Given the description of an element on the screen output the (x, y) to click on. 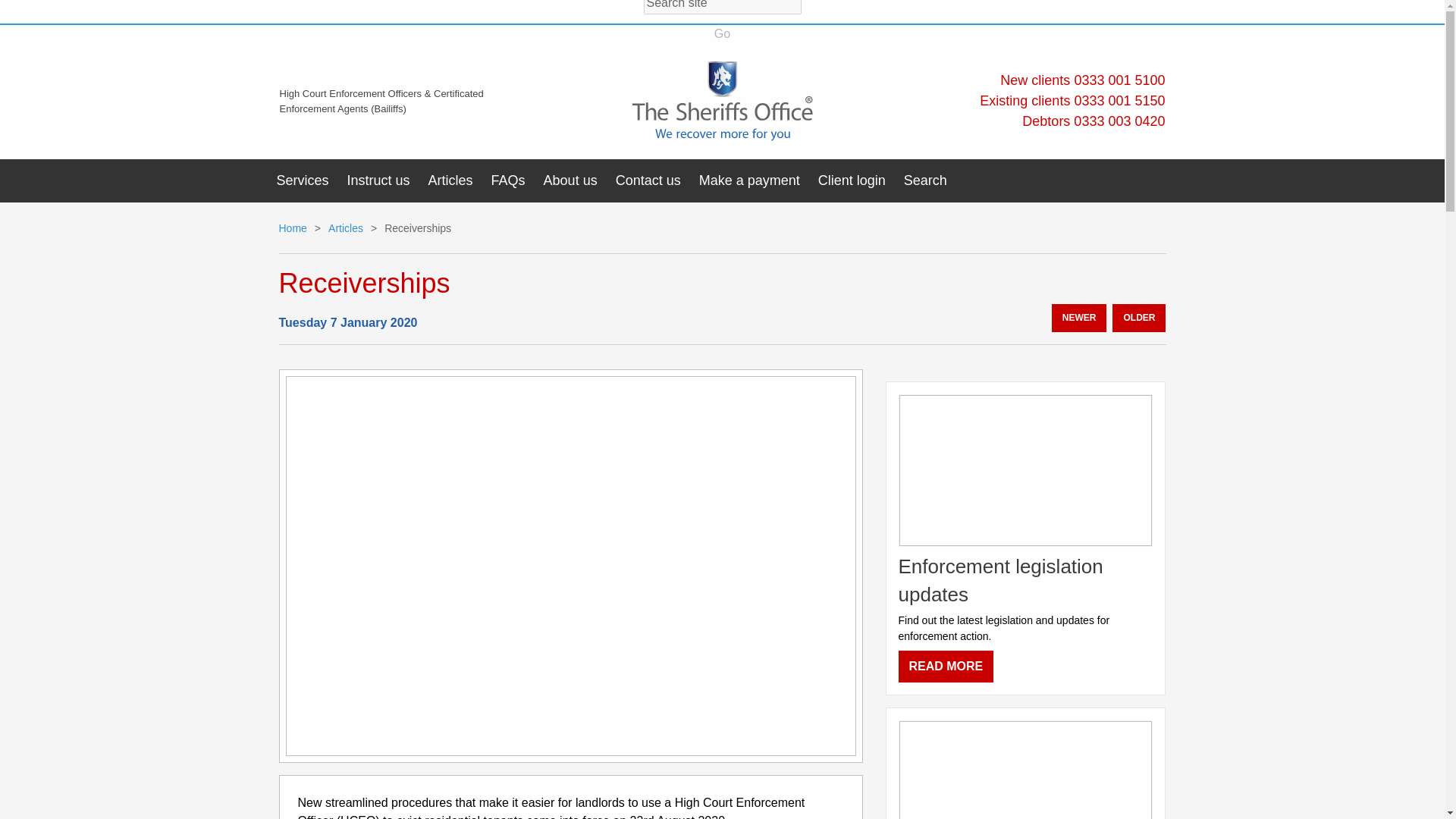
Go (722, 34)
FAQs (507, 179)
Services (301, 179)
Instruct us (378, 179)
About us (570, 179)
Articles (450, 179)
